Given the description of an element on the screen output the (x, y) to click on. 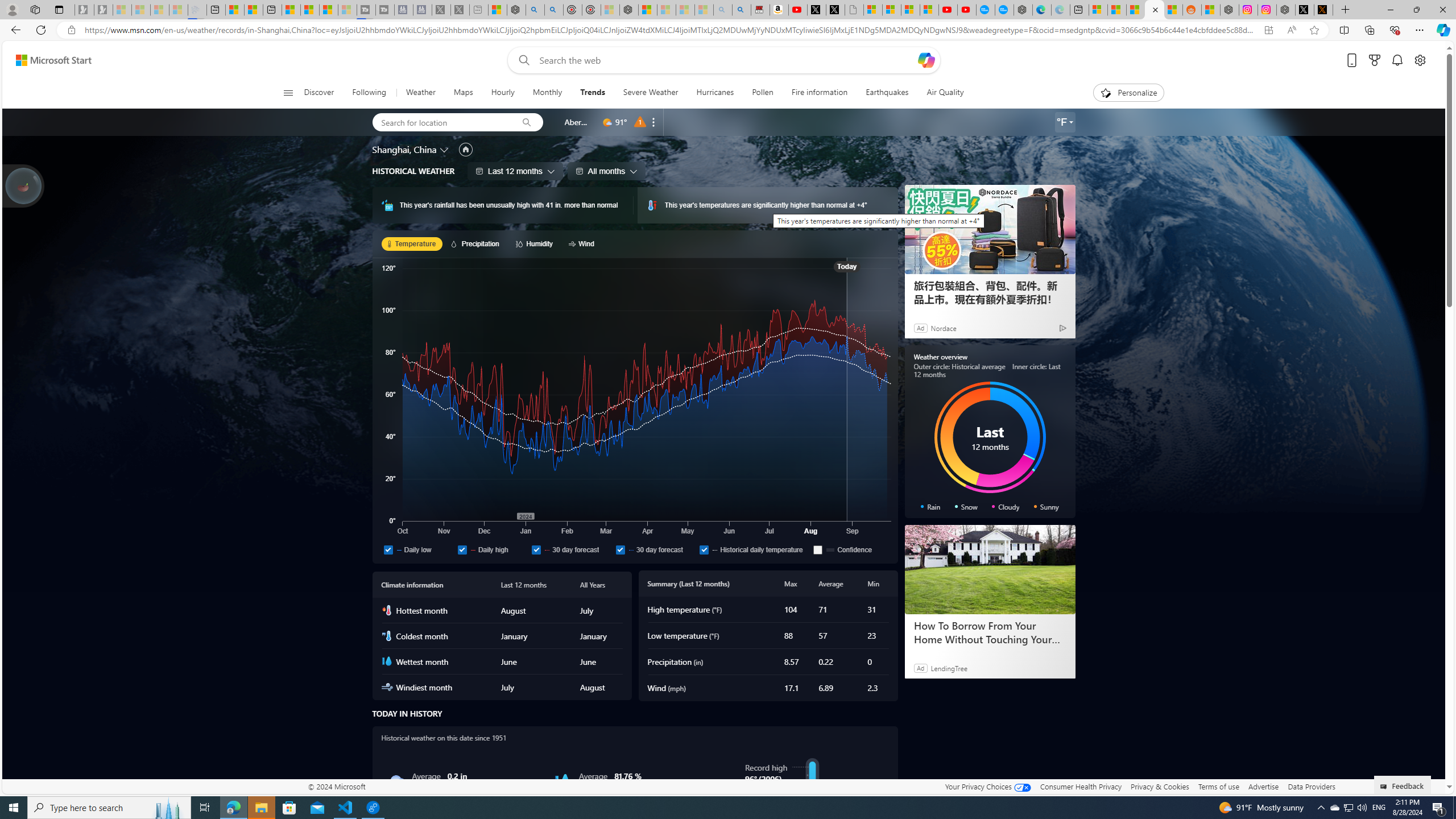
Following (368, 92)
Aberdeen (576, 121)
Copilot (Ctrl+Shift+.) (1442, 29)
Split screen (1344, 29)
Personalize (1128, 92)
Advertise (1263, 786)
Notifications (1397, 60)
How To Borrow From Your Home Without Touching Your Mortgage (989, 569)
Open Copilot (925, 59)
Weather (420, 92)
Air Quality (940, 92)
Workspaces (34, 9)
